Given the description of an element on the screen output the (x, y) to click on. 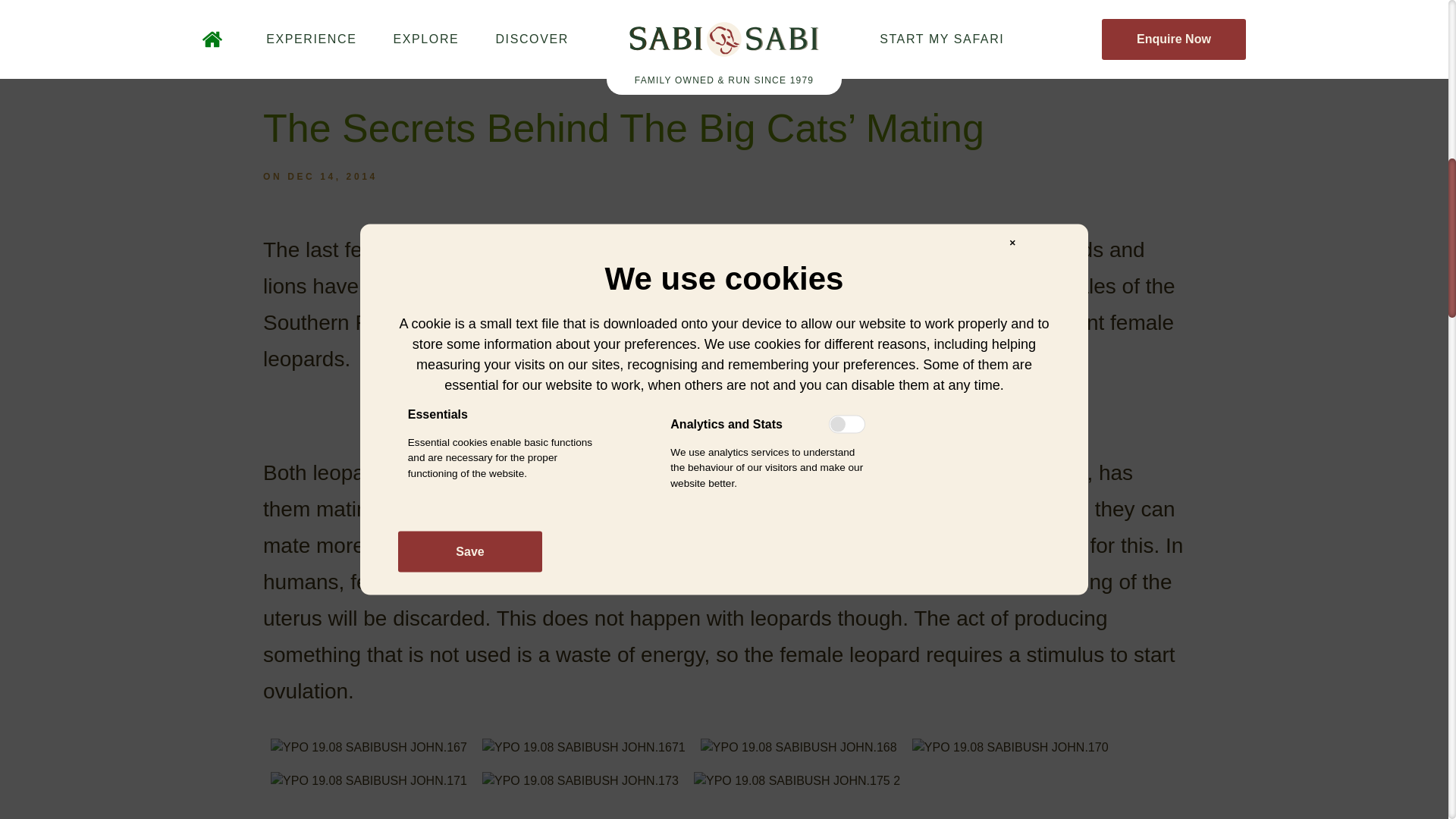
YPO 19.08 SABIBUSH JOHN.170 (1010, 747)
YPO 19.08 SABIBUSH JOHN.171 (368, 781)
YPO 19.08 SABIBUSH JOHN.175 2 (796, 781)
YPO 19.08 SABIBUSH JOHN.1671 (583, 747)
YPO 19.08 SABIBUSH JOHN.173 (579, 781)
YPO 19.08 SABIBUSH JOHN.168 (798, 747)
YPO 19.08 SABIBUSH JOHN.167 (368, 747)
